Given the description of an element on the screen output the (x, y) to click on. 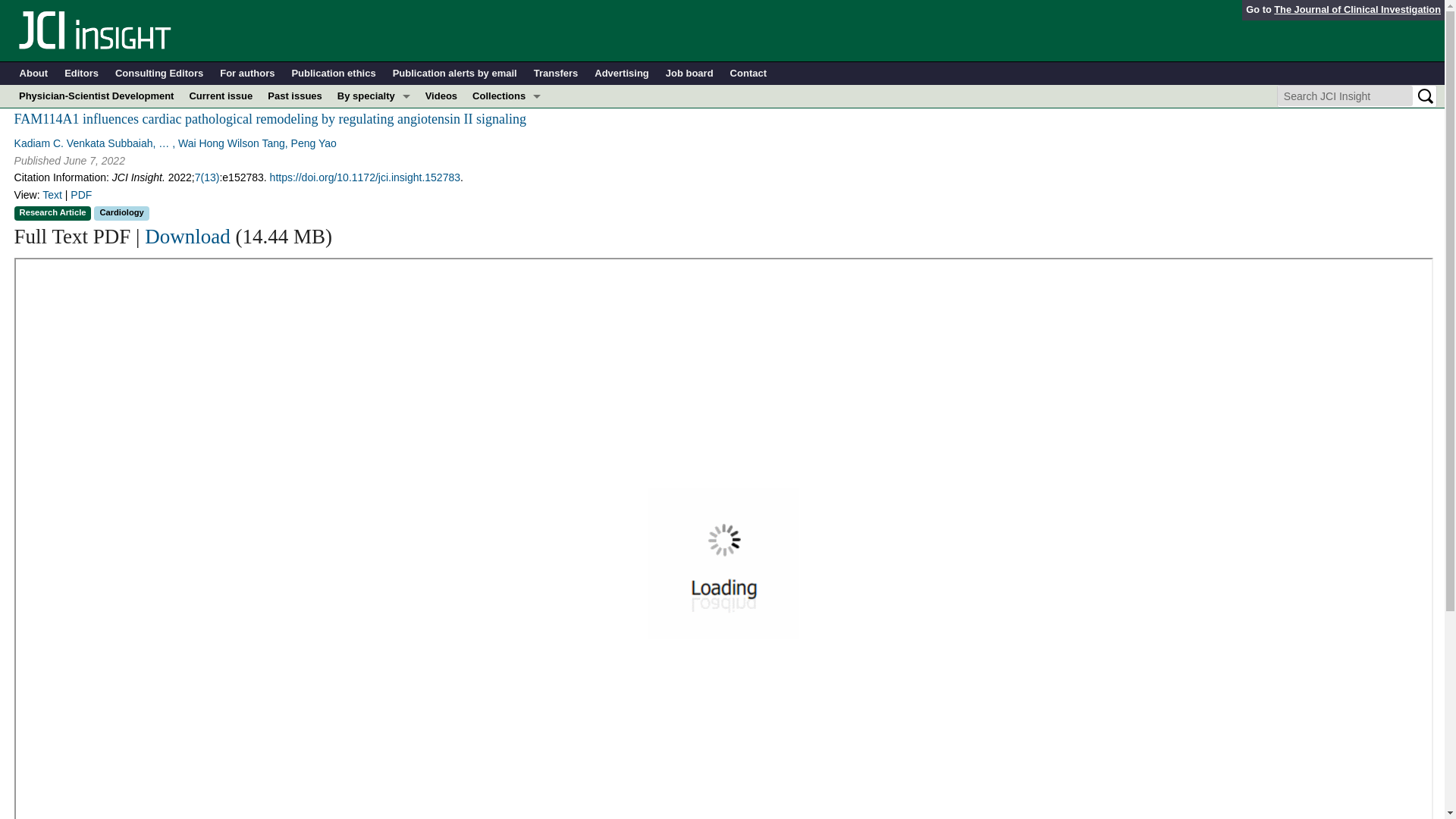
Cardiology (373, 141)
For authors (247, 73)
Pulmonology (373, 255)
In-Press Preview (506, 118)
Nephrology (373, 210)
Past issues (295, 96)
All ... (373, 277)
The Journal of Clinical Investigation (1357, 9)
Contact (748, 73)
By specialty (373, 96)
